Given the description of an element on the screen output the (x, y) to click on. 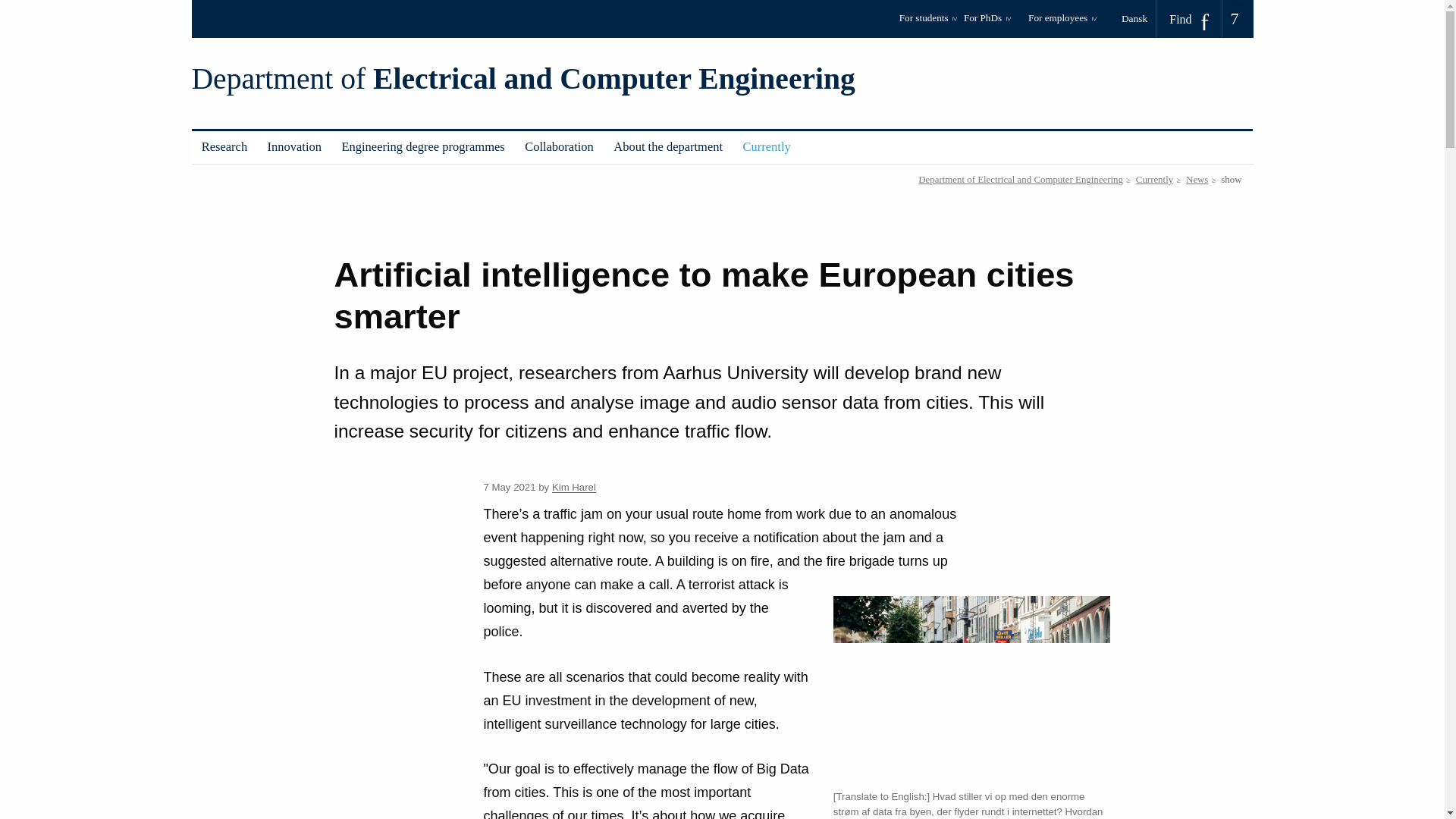
Department of Electrical and Computer Engineering (522, 78)
Innovation (294, 147)
Research (223, 147)
For students (927, 22)
Engineering degree programmes (423, 147)
Currently (766, 147)
For employees (1061, 23)
For PhDs (992, 22)
Dansk (1139, 18)
Search (17, 5)
